Given the description of an element on the screen output the (x, y) to click on. 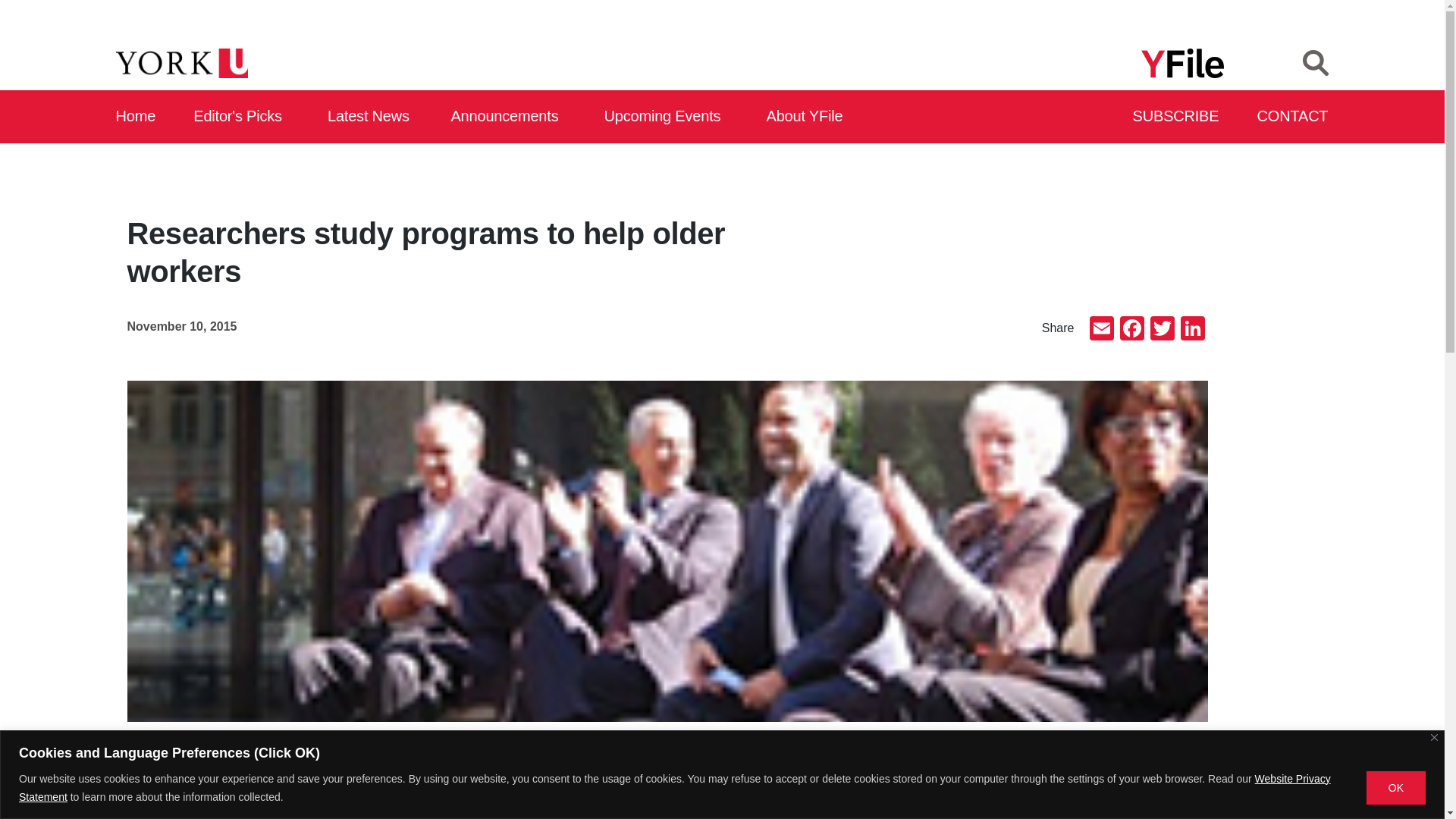
Announcements (508, 116)
Email (1101, 329)
Subscribe (1176, 116)
Latest News (370, 116)
Upcoming Events (667, 116)
Facebook (1131, 329)
Twitter (1161, 329)
Website Privacy Statement (674, 787)
Editor's Picks (242, 116)
Latest News (370, 116)
OK (1396, 786)
LinkedIn (1191, 329)
Contact (1293, 116)
Editor's Picks (242, 116)
About YFile (806, 116)
